Given the description of an element on the screen output the (x, y) to click on. 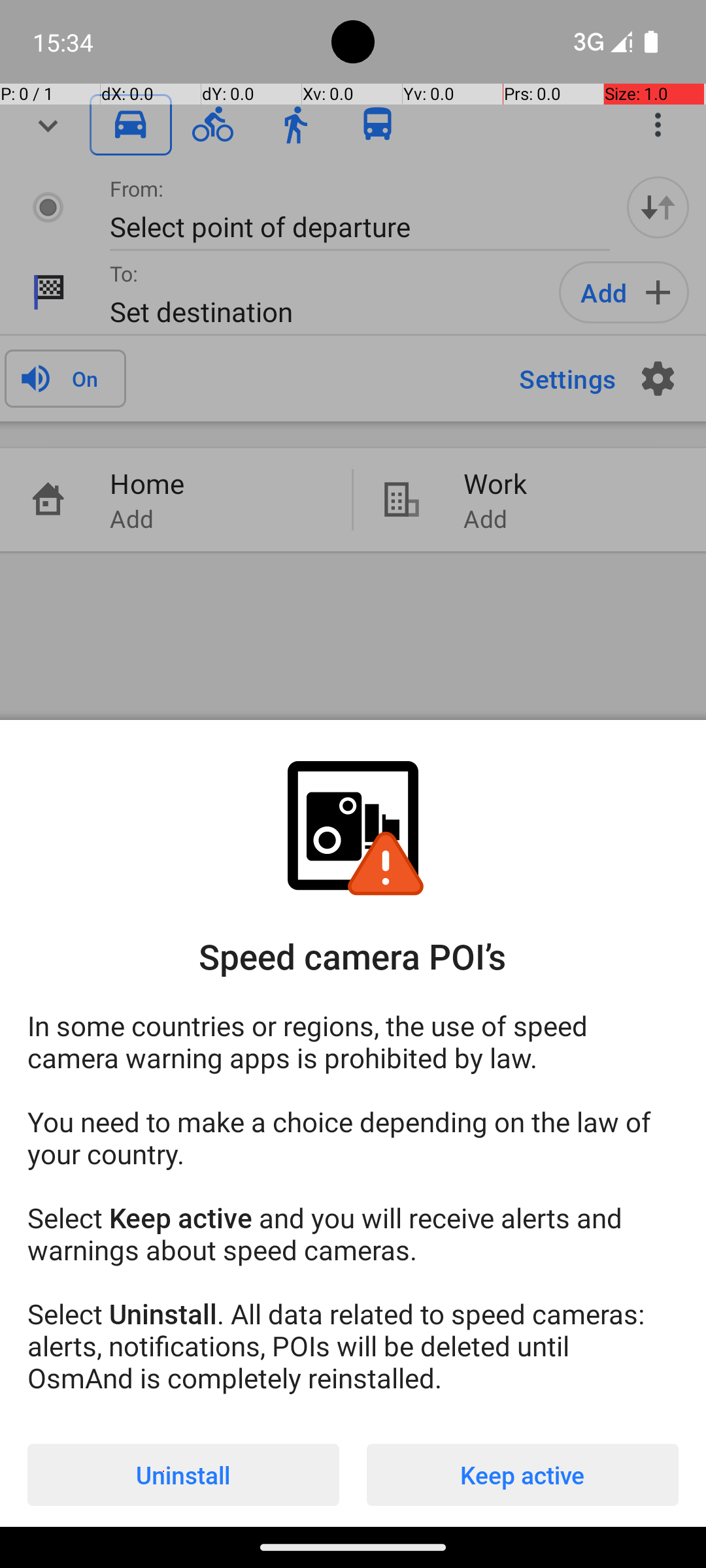
Close the dialog Element type: android.view.View (353, 388)
